Given the description of an element on the screen output the (x, y) to click on. 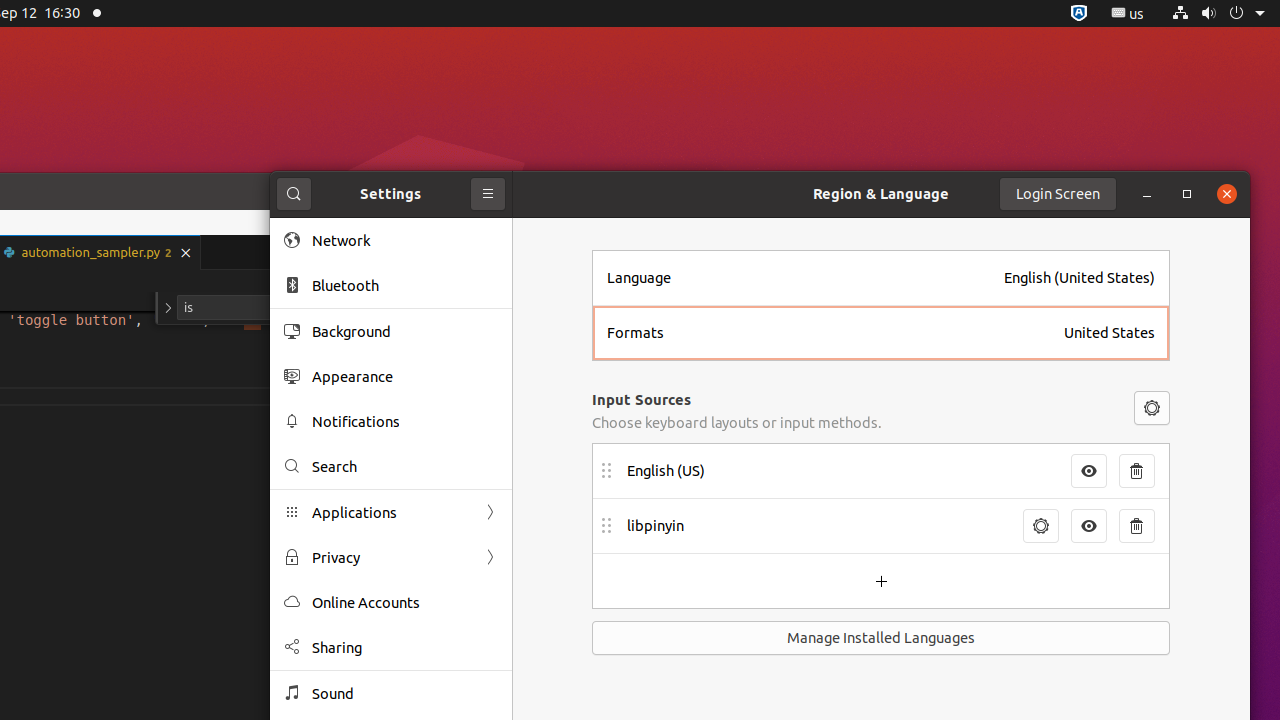
Search Element type: toggle-button (294, 194)
Input Sources Element type: label (641, 399)
Region & Language Element type: label (881, 193)
